Given the description of an element on the screen output the (x, y) to click on. 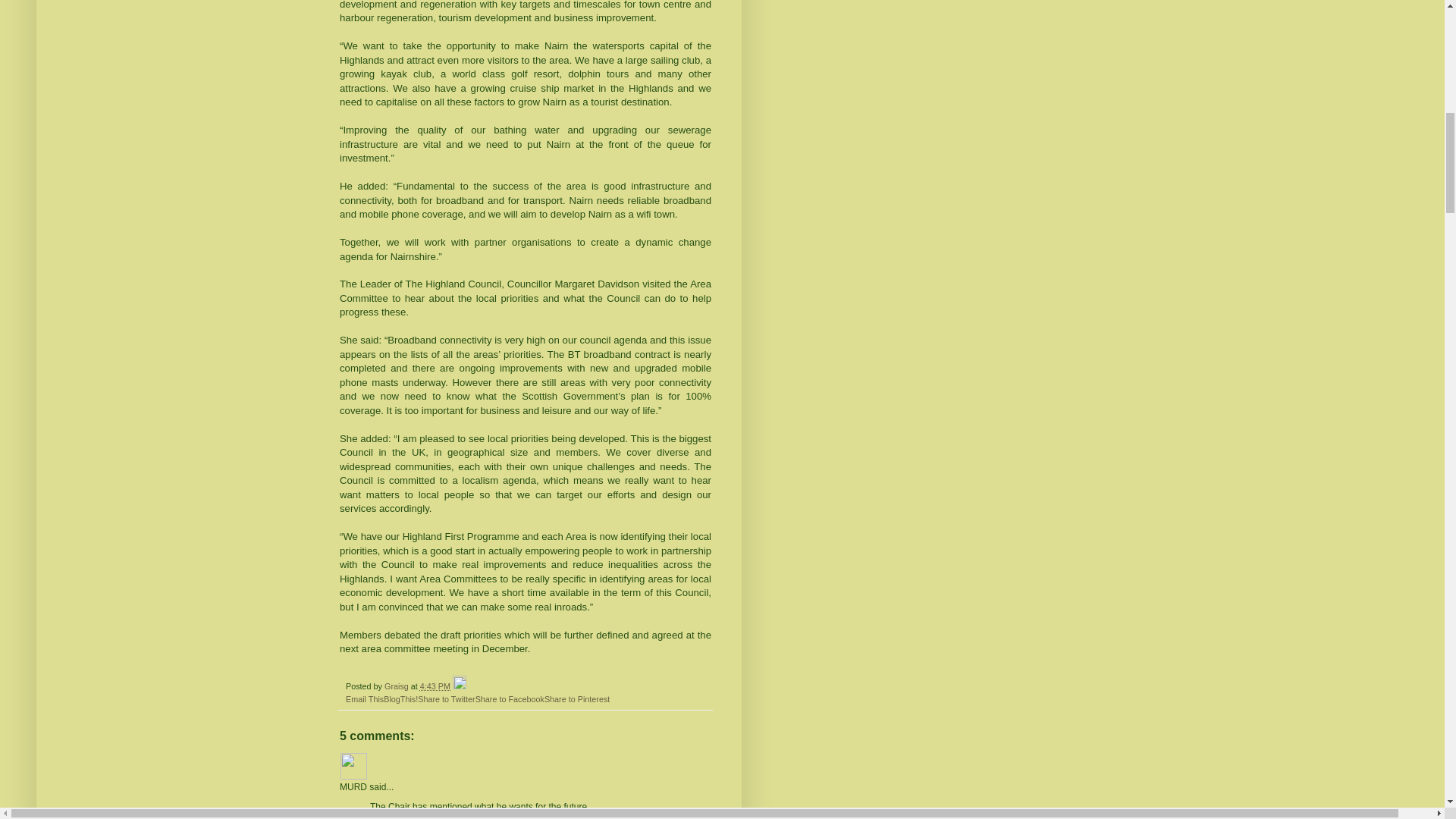
Email This (365, 698)
Graisg (397, 686)
Email This (365, 698)
Share to Twitter (445, 698)
Share to Twitter (445, 698)
permanent link (434, 686)
4:43 PM (434, 686)
Share to Pinterest (577, 698)
Share to Facebook (510, 698)
author profile (397, 686)
BlogThis! (400, 698)
MURD (353, 766)
BlogThis! (400, 698)
Share to Facebook (510, 698)
Share to Pinterest (577, 698)
